Given the description of an element on the screen output the (x, y) to click on. 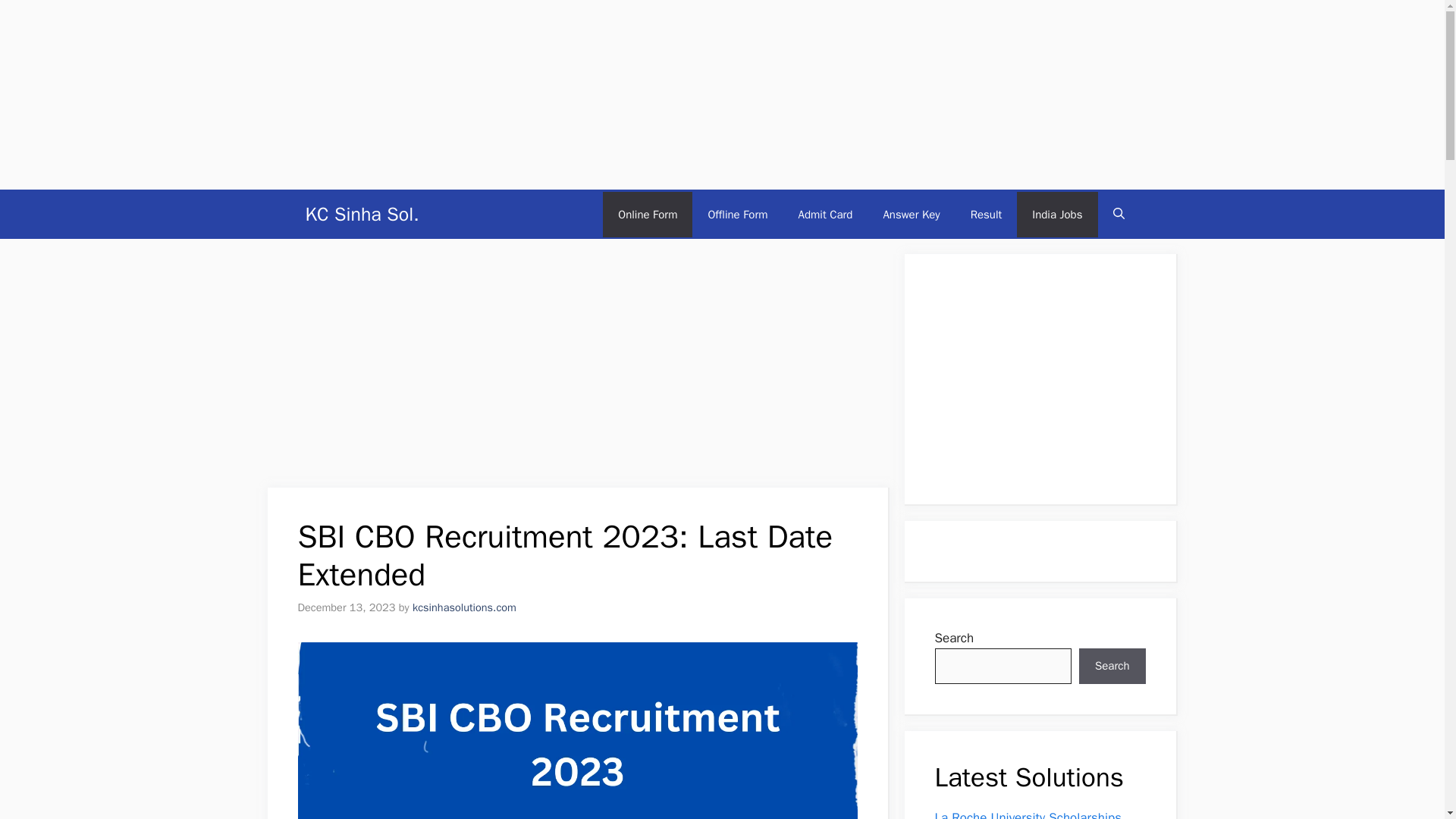
kcsinhasolutions.com (464, 607)
View all posts by kcsinhasolutions.com (464, 607)
Result (986, 213)
Search (1111, 665)
KC Sinha Sol. (361, 214)
Offline Form (738, 213)
Online Form (647, 213)
Answer Key (911, 213)
India Jobs (1056, 213)
Admit Card (825, 213)
